Given the description of an element on the screen output the (x, y) to click on. 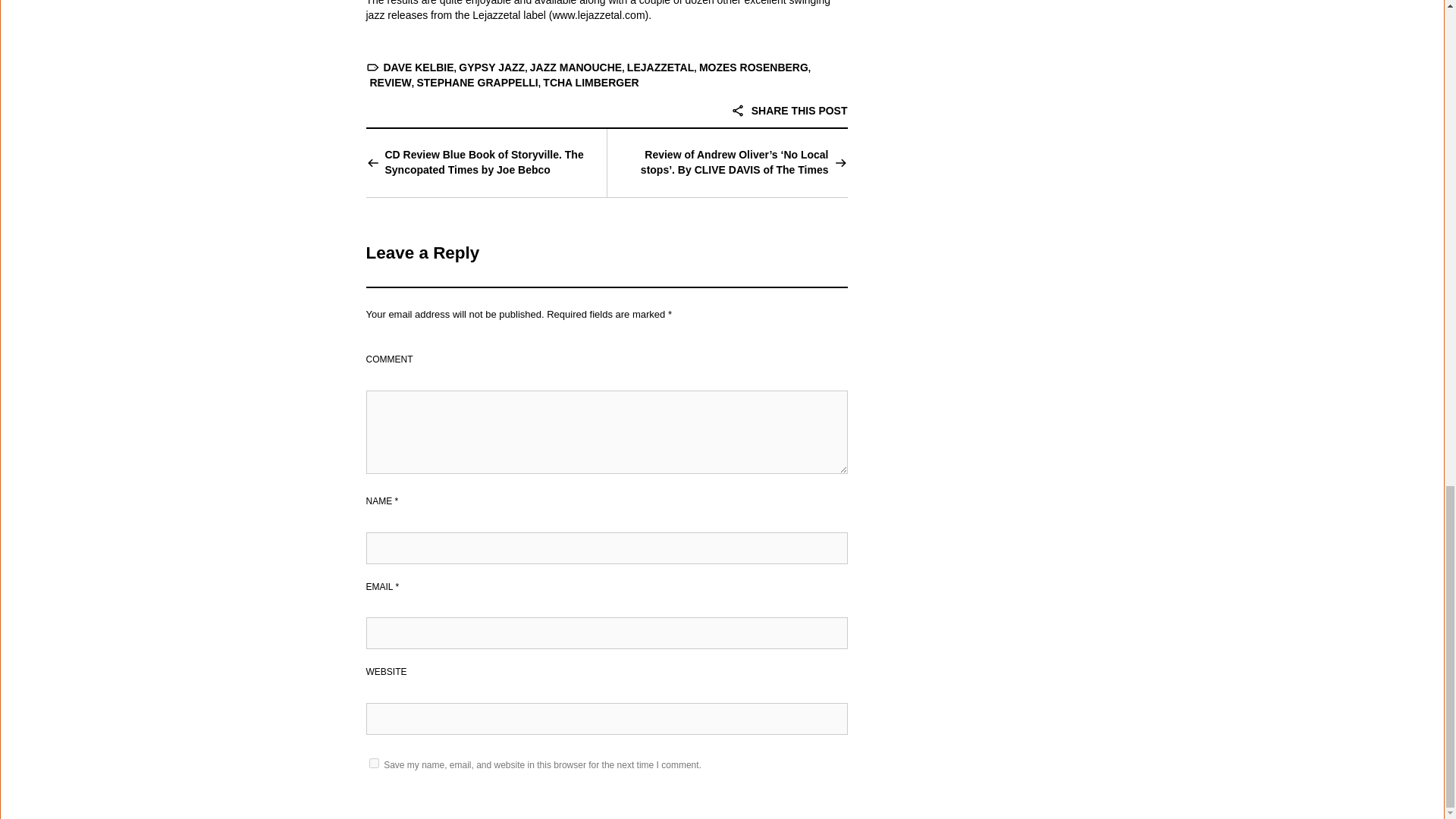
yes (373, 763)
DAVE KELBIE (419, 67)
STEPHANE GRAPPELLI (476, 82)
MOZES ROSENBERG (753, 67)
SHARE THIS POST (788, 110)
JAZZ MANOUCHE (575, 67)
TCHA LIMBERGER (591, 82)
GYPSY JAZZ (491, 67)
REVIEW (390, 82)
LEJAZZETAL (660, 67)
